Given the description of an element on the screen output the (x, y) to click on. 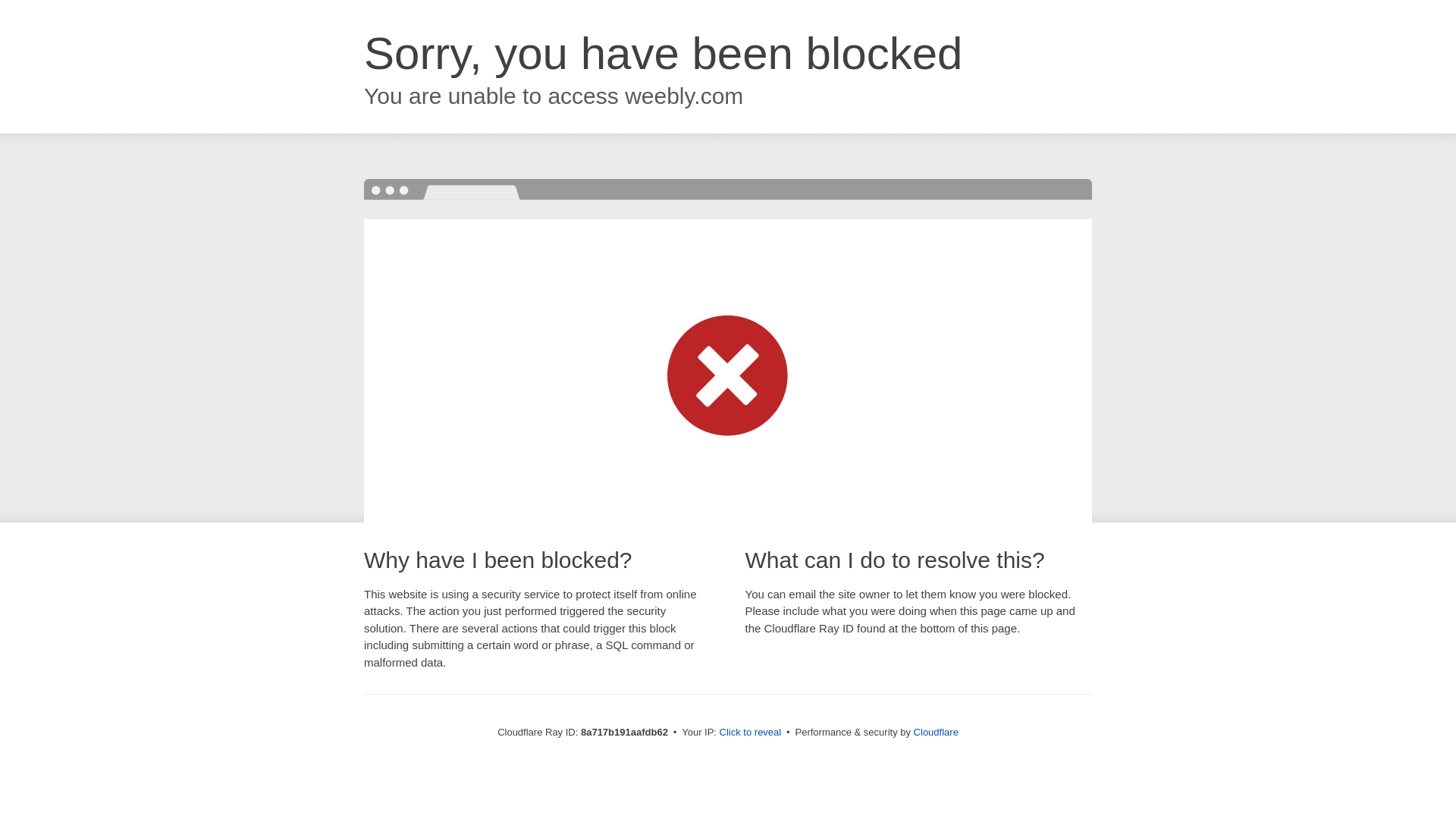
Click to reveal (750, 732)
Cloudflare (936, 731)
